Given the description of an element on the screen output the (x, y) to click on. 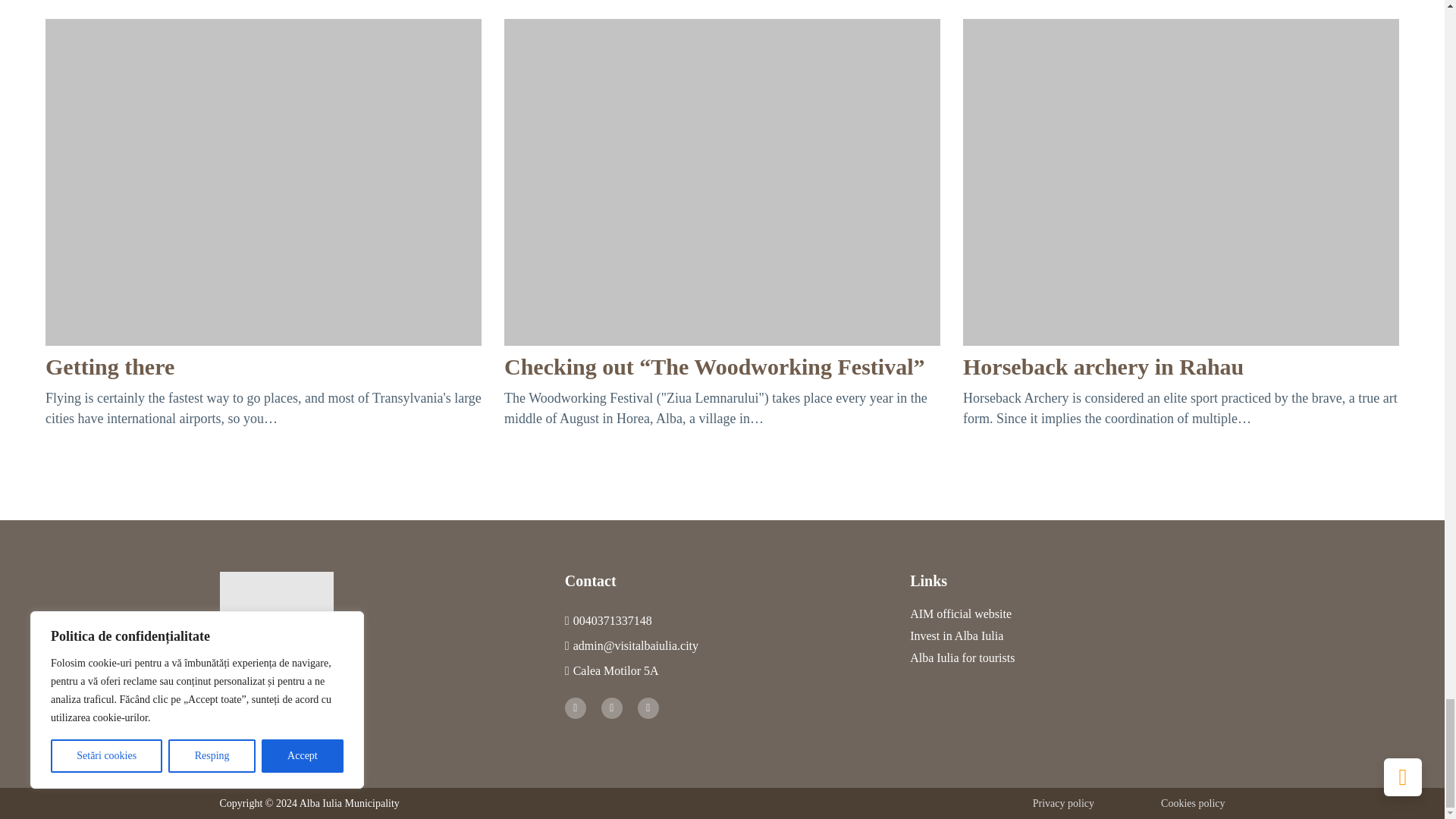
Telefon (608, 620)
Link Google Maps (611, 670)
Politica de cookies (1176, 803)
Email (631, 646)
Politica de confidentialitate (1045, 803)
